Given the description of an element on the screen output the (x, y) to click on. 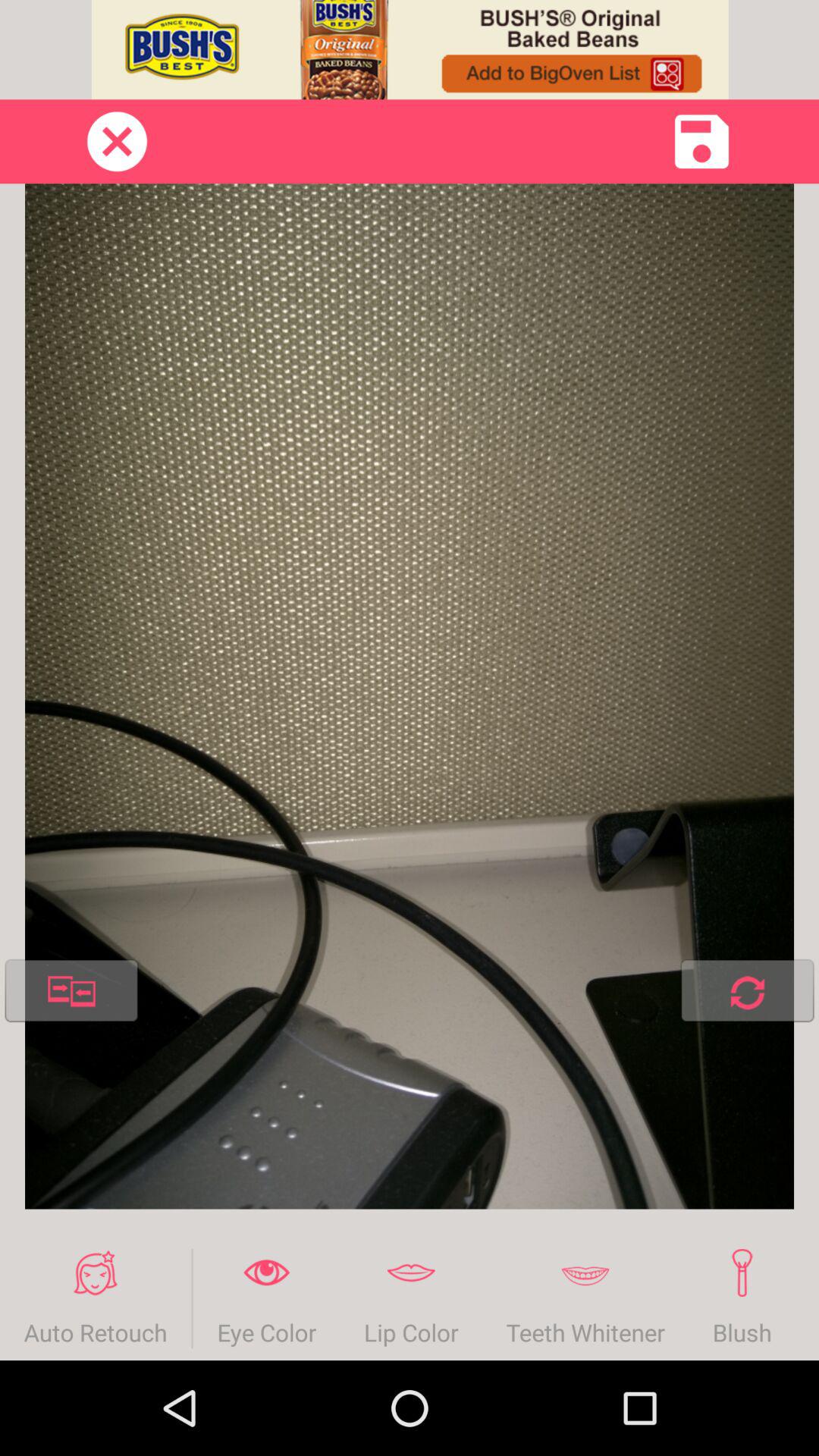
close screen (116, 141)
